Given the description of an element on the screen output the (x, y) to click on. 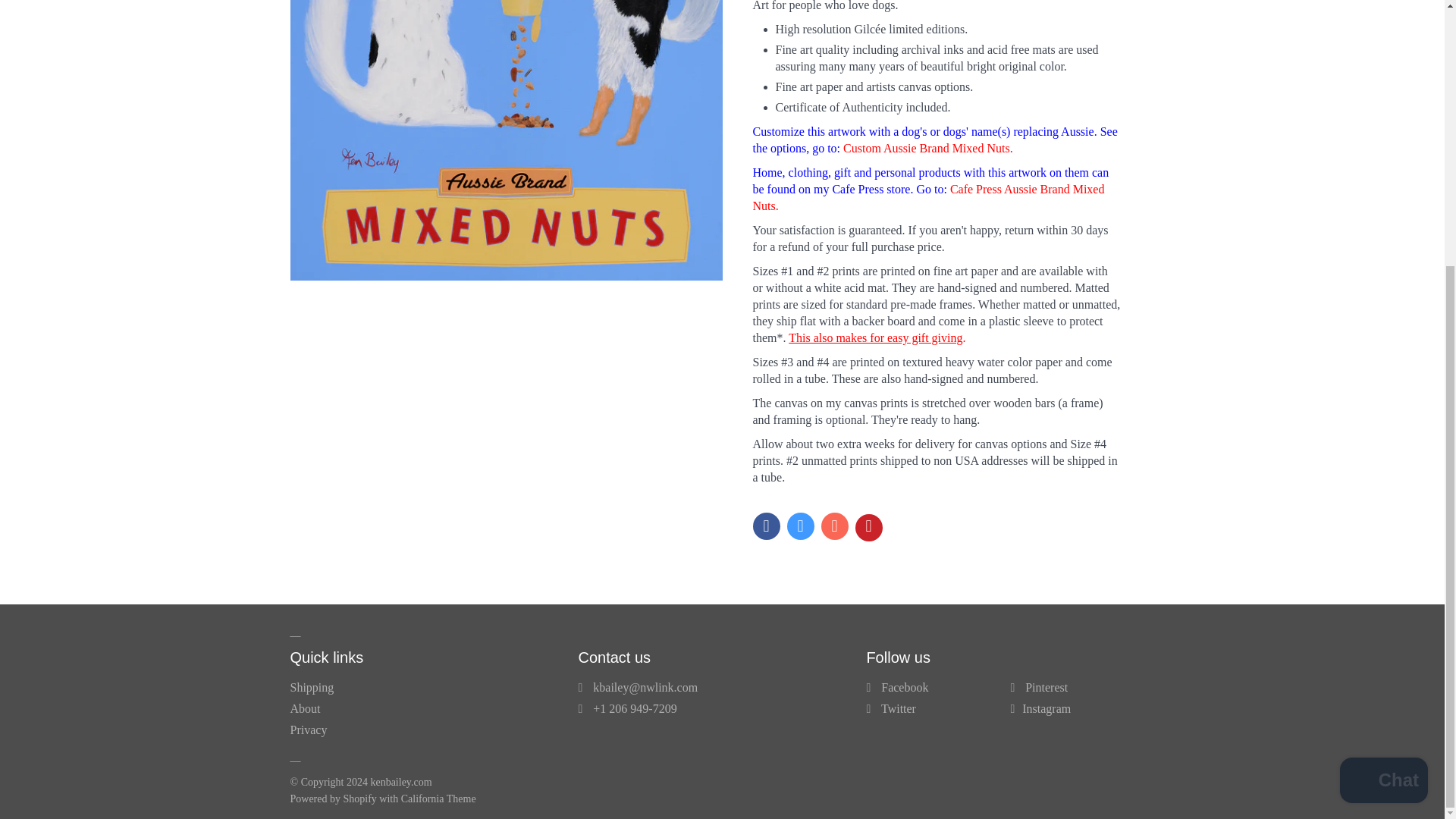
California Theme on Shopify (438, 798)
Shipping (311, 686)
kenbailey.com on Instagram (1046, 707)
Cafe Press Aussie Brand Mixed Nuts (927, 197)
Share on Pinterest (869, 527)
Share on Twitter (800, 525)
Privacy (307, 729)
Twitter (897, 707)
kenbailey.com on Facebook (904, 686)
Custom Aussie Brand Mixed Nuts (928, 147)
